Given the description of an element on the screen output the (x, y) to click on. 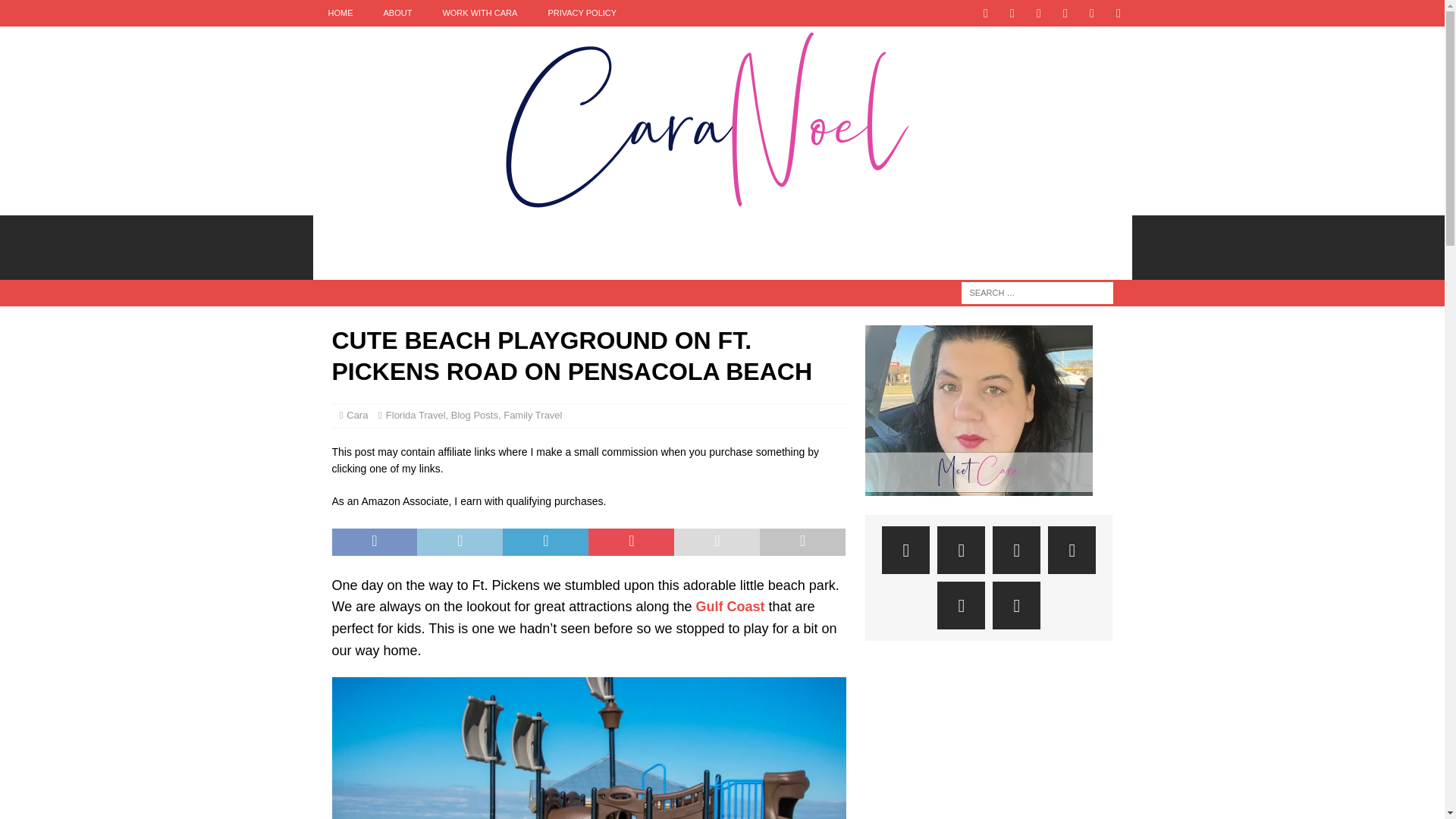
HOME (340, 13)
Cara Noel Dean (722, 206)
PRIVACY POLICY (581, 13)
ABOUT (398, 13)
WORK WITH CARA (479, 13)
